Given the description of an element on the screen output the (x, y) to click on. 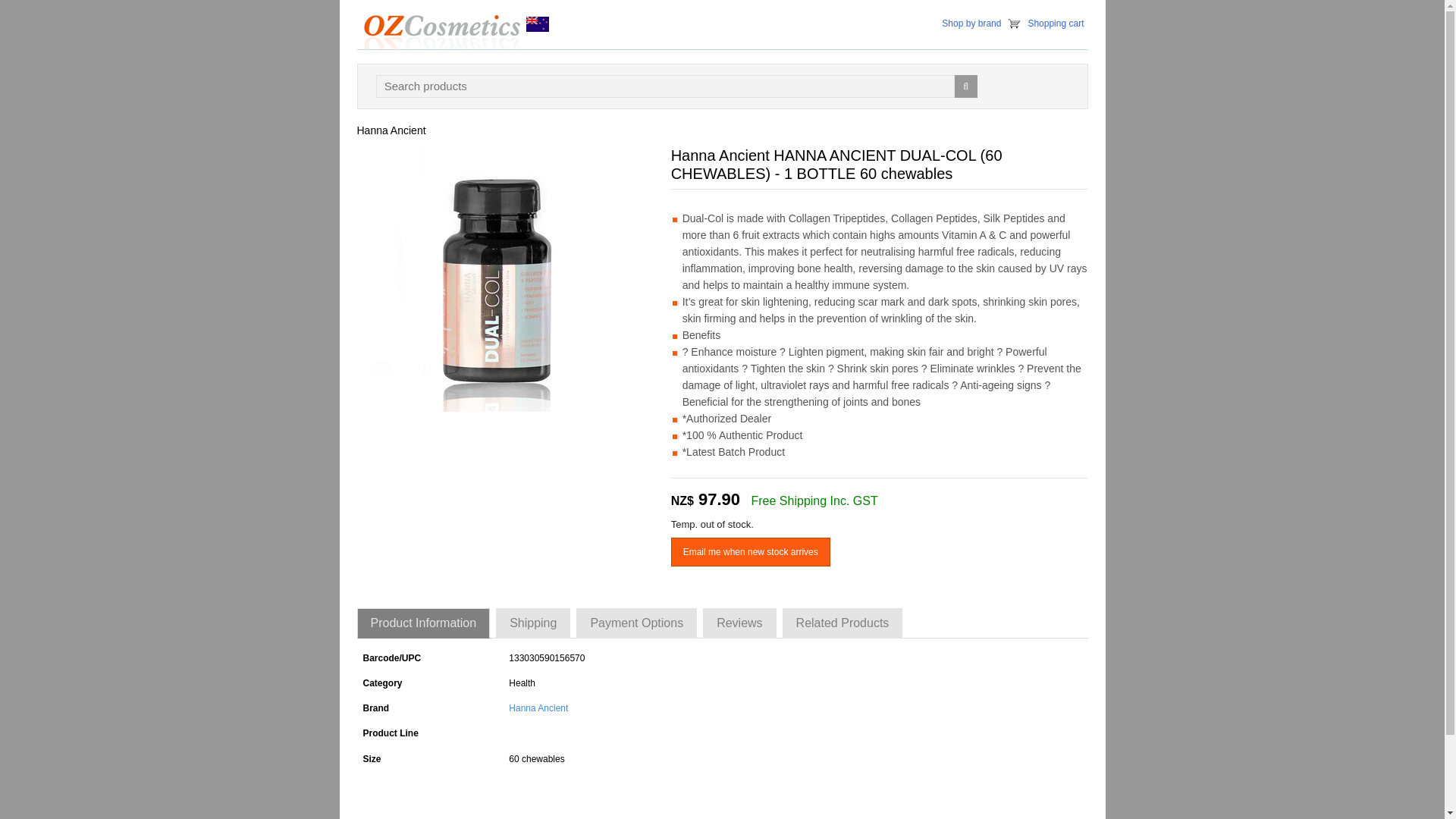
Email me when new stock arrives (750, 551)
Related Products (842, 623)
Payment Options (636, 623)
Hanna Ancient (390, 130)
Product Information (422, 623)
Reviews (739, 623)
Shipping (533, 623)
Hanna Ancient (390, 130)
Hanna Ancient (537, 707)
Shop by brand (970, 23)
Shopping cart (1055, 23)
